Given the description of an element on the screen output the (x, y) to click on. 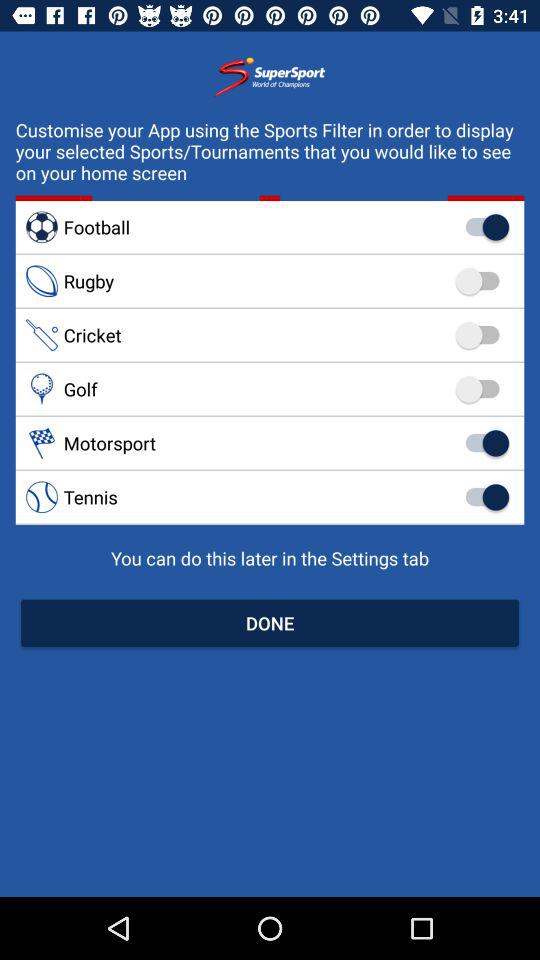
turn off rugby (269, 281)
